Given the description of an element on the screen output the (x, y) to click on. 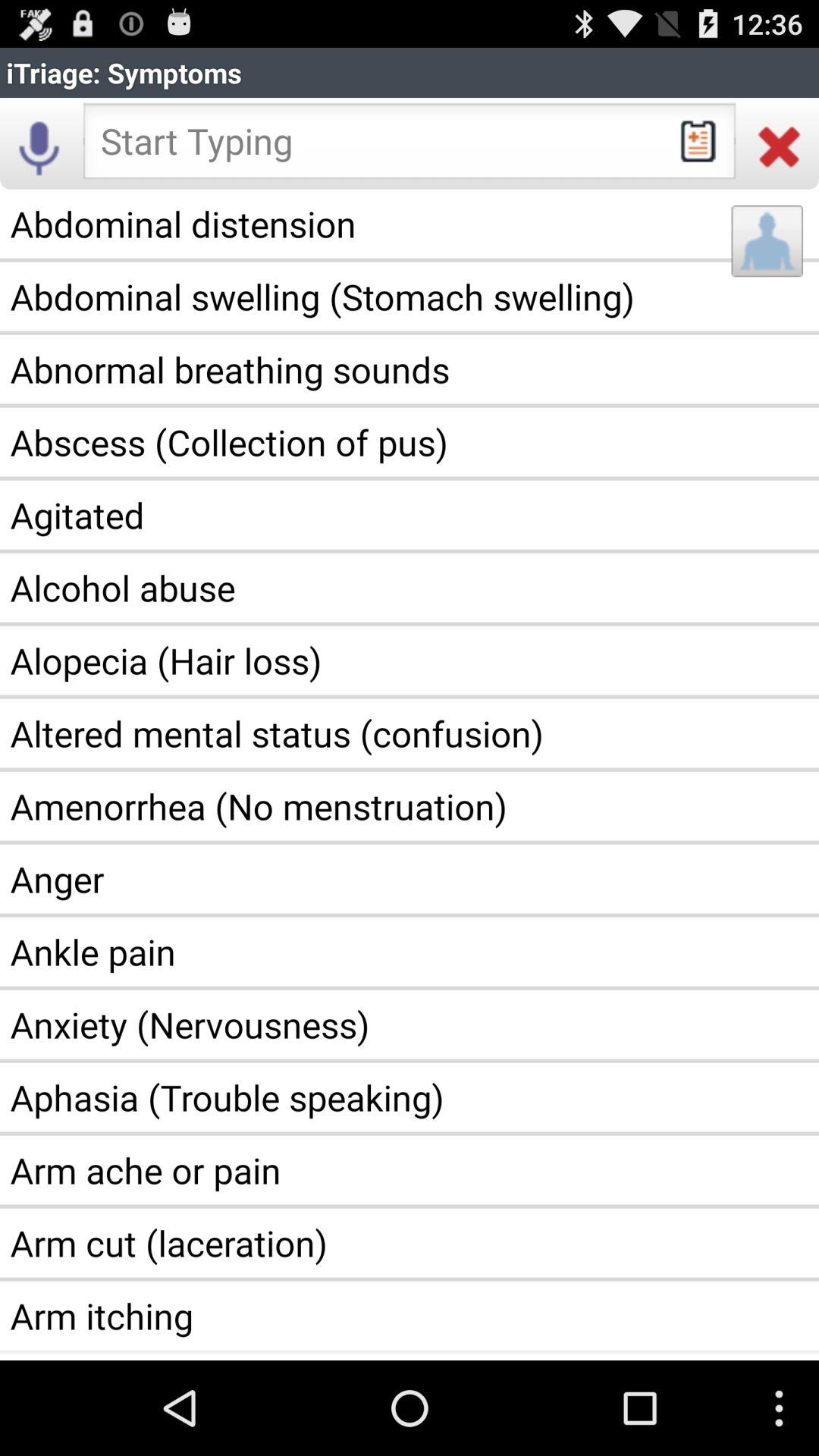
turn on the app below the abdominal swelling stomach (409, 369)
